Given the description of an element on the screen output the (x, y) to click on. 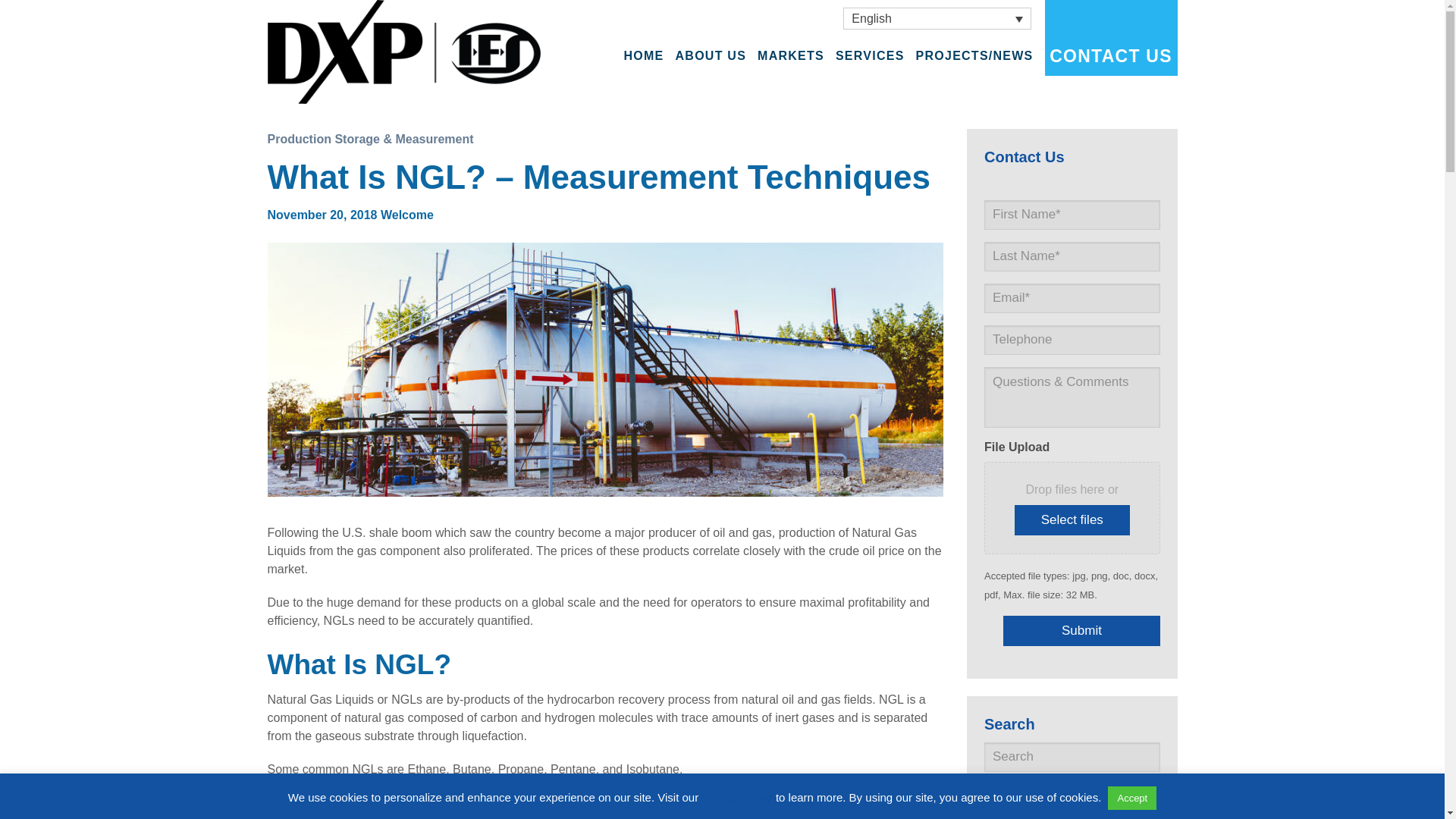
HOME (643, 55)
MARKETS (790, 55)
Air Quality (790, 91)
Search (1112, 798)
English (936, 18)
Why Modular (710, 122)
Power Generation (790, 122)
ABOUT US (710, 55)
Submit (1080, 630)
About Us (710, 91)
SIGN IN (1159, 14)
Integrated Flow Solutions (403, 51)
